Given the description of an element on the screen output the (x, y) to click on. 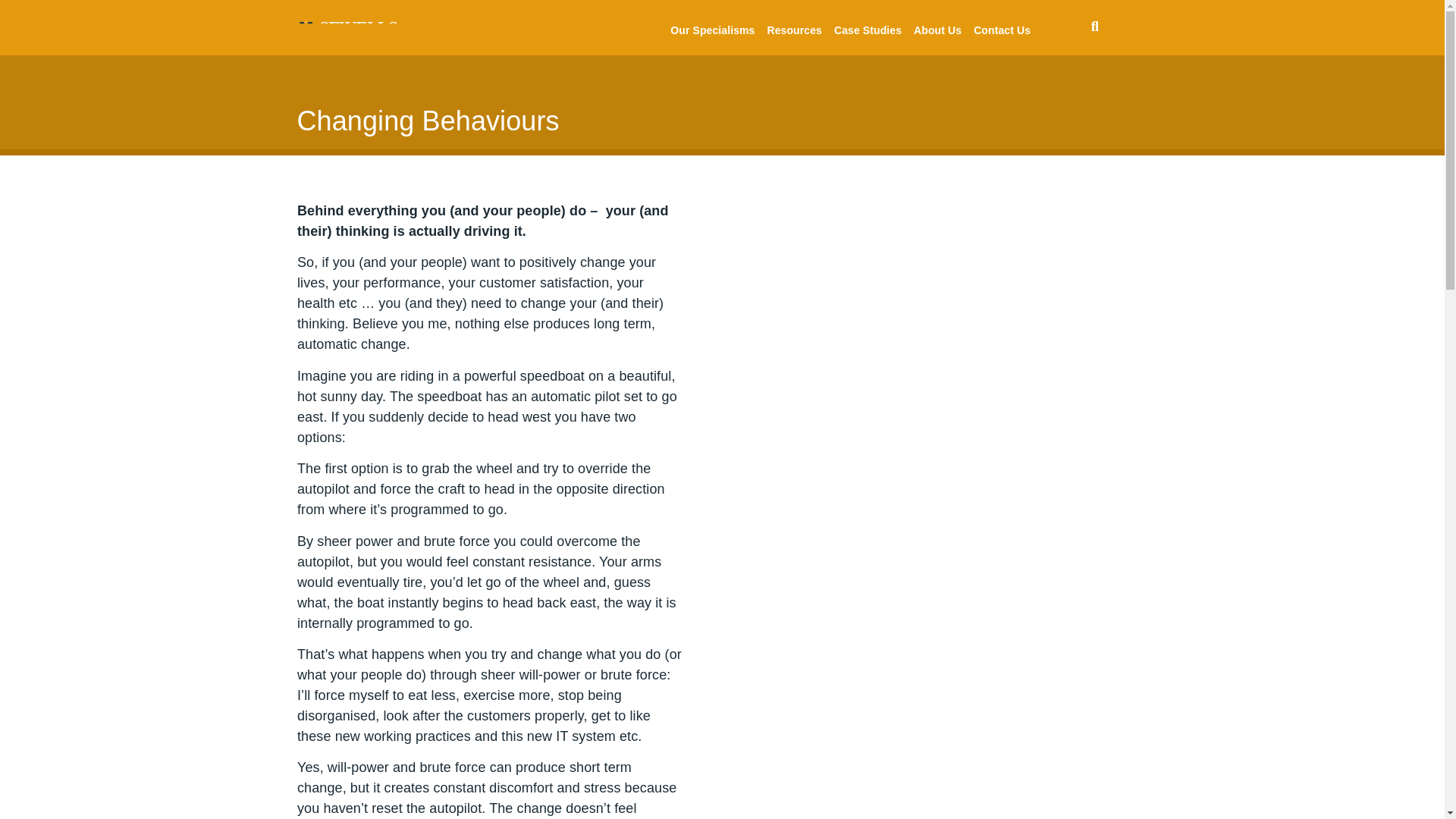
Resources (794, 30)
Contact Us (1002, 30)
Our Specialisms (711, 30)
Case Studies (867, 30)
About Us (937, 30)
